Given the description of an element on the screen output the (x, y) to click on. 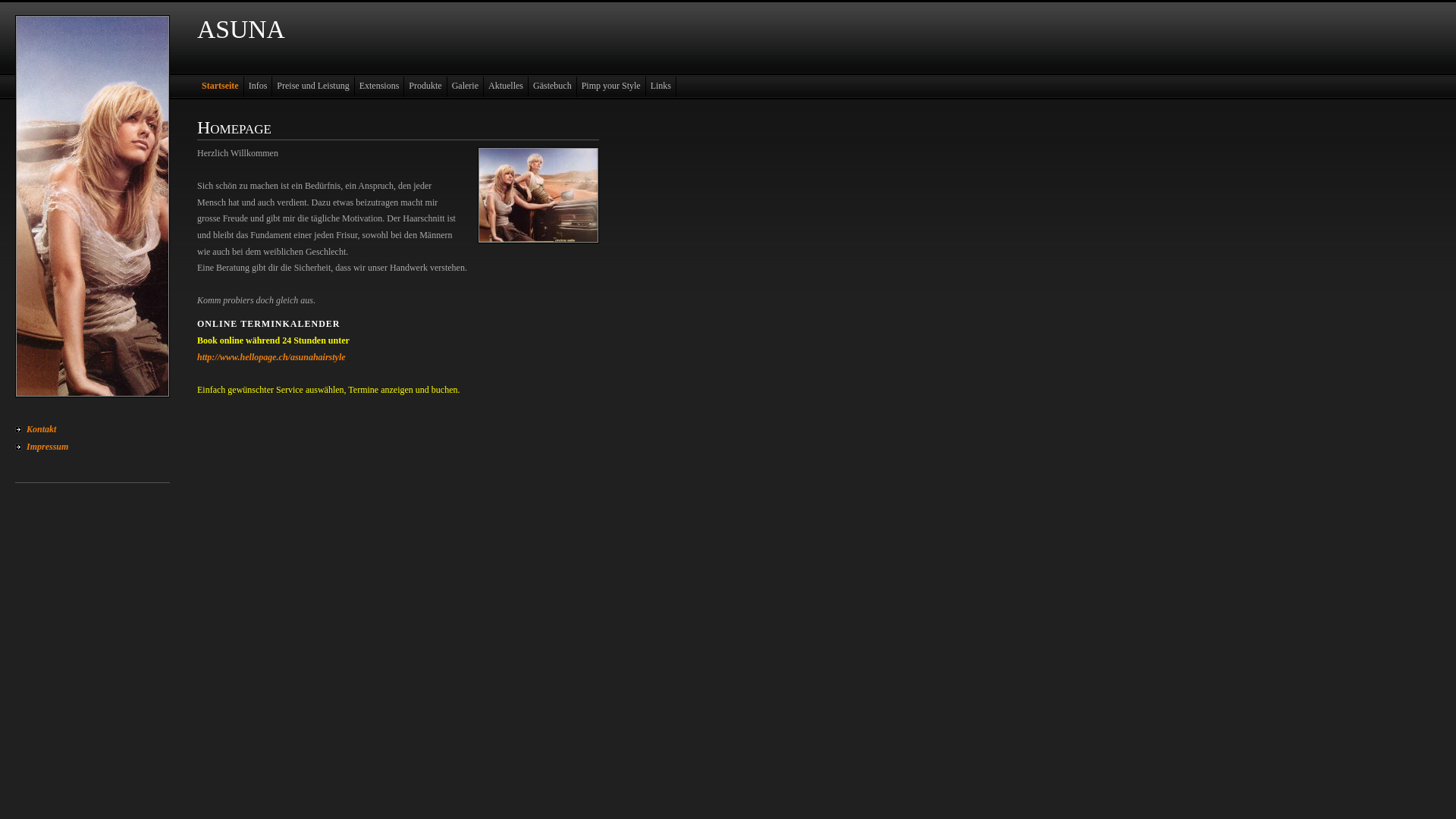
Kontakt Element type: text (92, 429)
Produkte Element type: text (425, 86)
Extensions Element type: text (379, 86)
Impressum Element type: text (92, 446)
http://www.hellopage.ch/asunahairstyle Element type: text (271, 356)
Links Element type: text (661, 86)
Startseite Element type: text (220, 86)
Preise und Leistung Element type: text (313, 86)
Galerie Element type: text (465, 86)
Aktuelles Element type: text (505, 86)
Pimp your Style Element type: text (611, 86)
Infos Element type: text (258, 86)
